Given the description of an element on the screen output the (x, y) to click on. 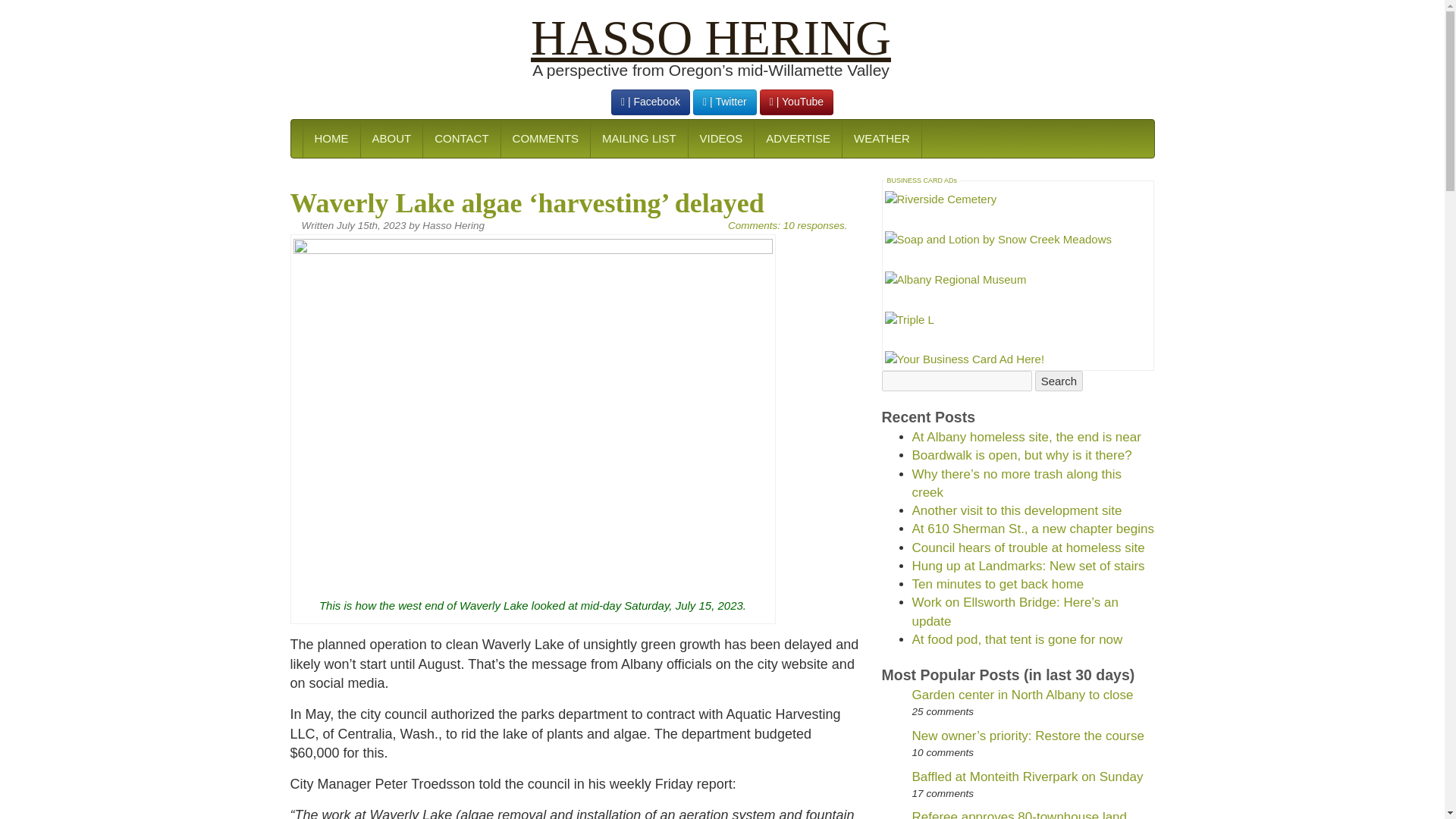
HOME (330, 138)
Search (1059, 813)
ABOUT (390, 138)
HASSO HERING (711, 37)
COMMENTS (545, 138)
Search (1059, 813)
Comments: 10 responses. (787, 225)
VIDEOS (720, 138)
ADVERTISE (797, 138)
CONTACT (460, 138)
